Given the description of an element on the screen output the (x, y) to click on. 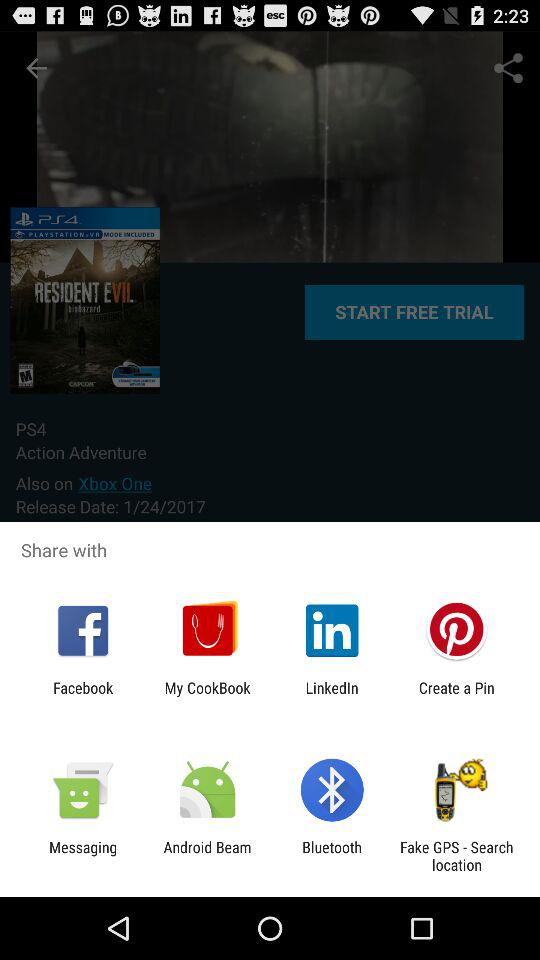
press android beam app (207, 856)
